Given the description of an element on the screen output the (x, y) to click on. 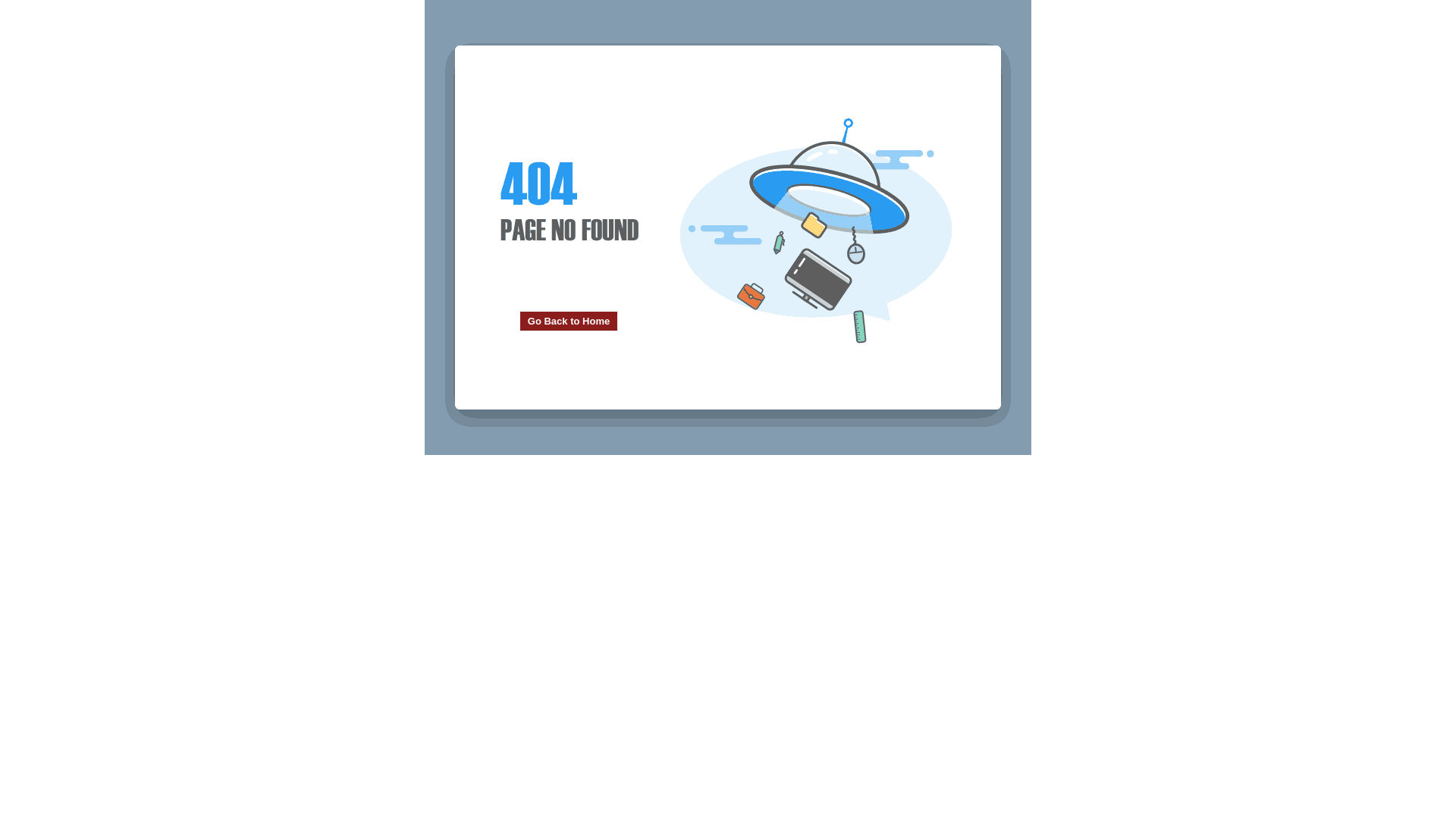
Go Back to Home Element type: text (568, 320)
